Given the description of an element on the screen output the (x, y) to click on. 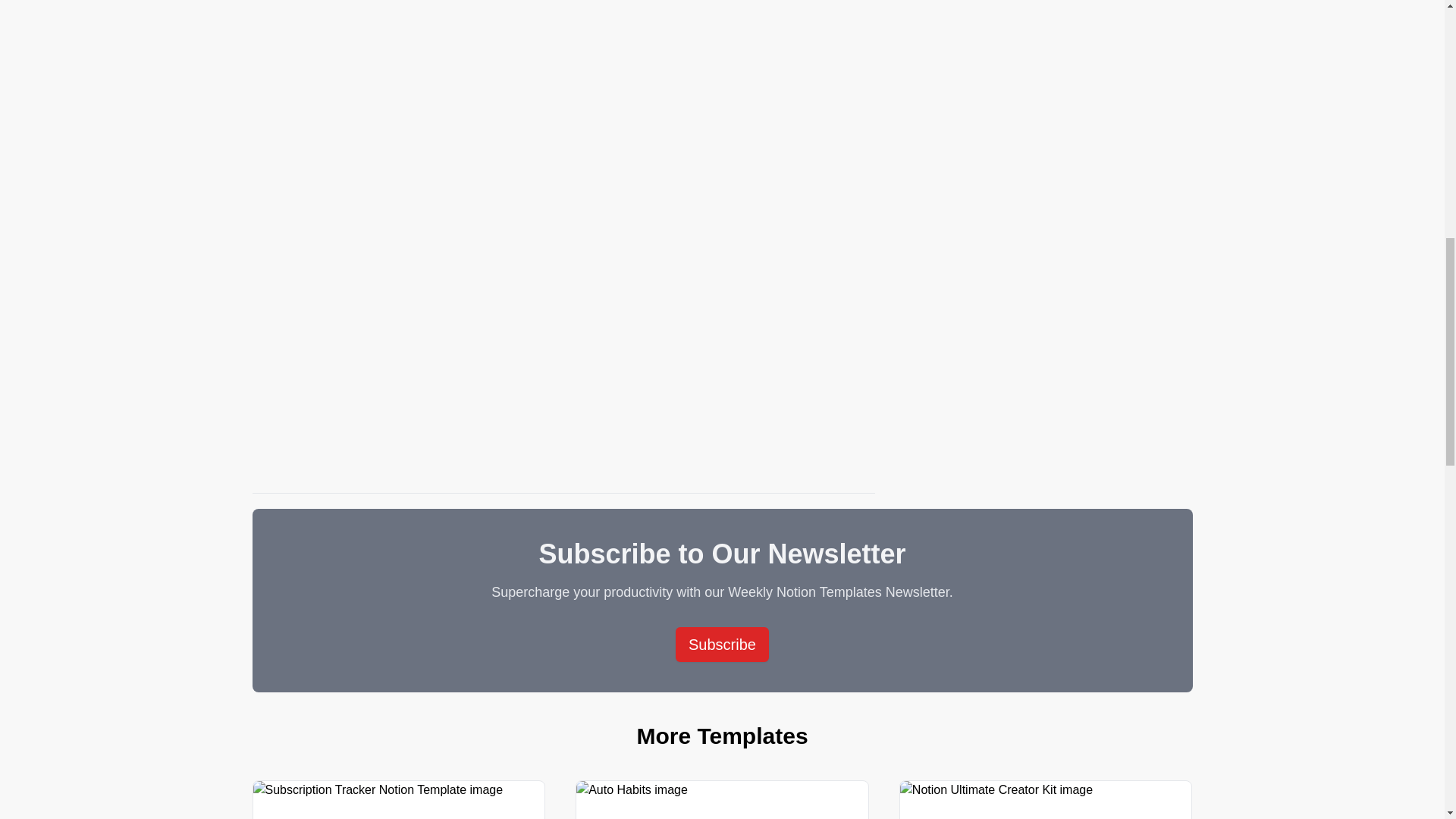
Subscribe (721, 644)
